Given the description of an element on the screen output the (x, y) to click on. 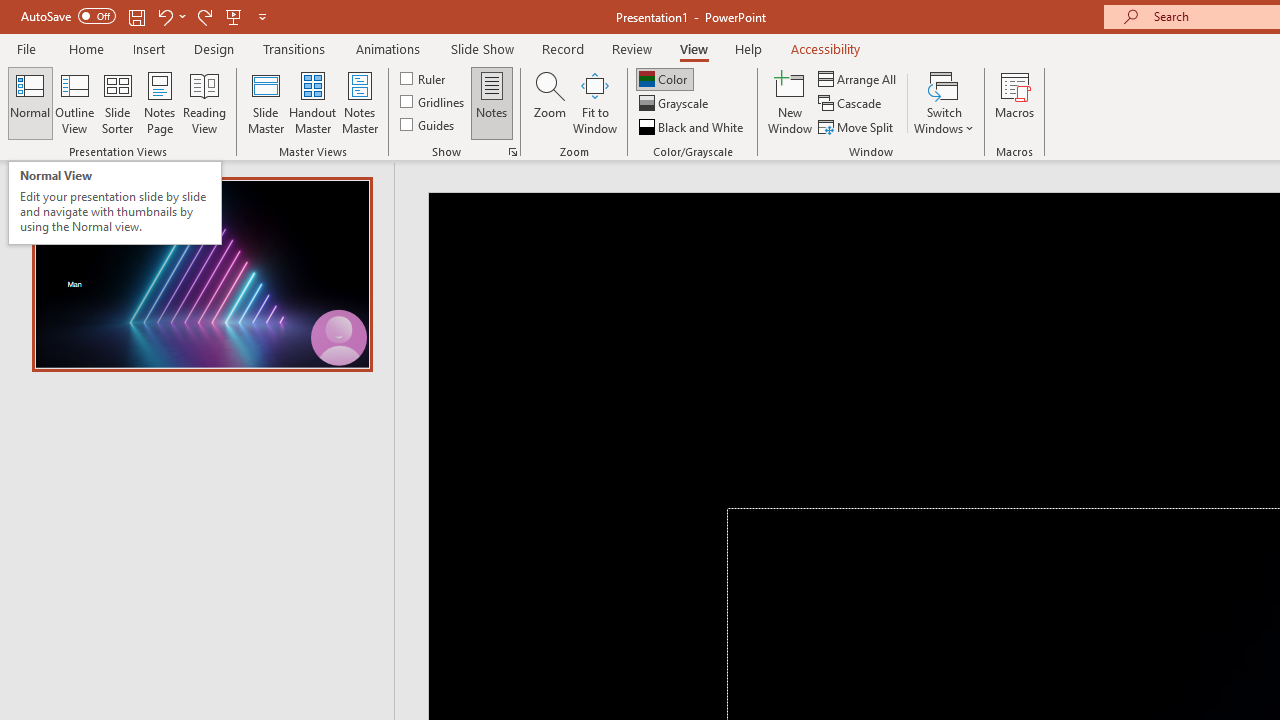
Guides (428, 124)
Notes (492, 102)
New Window (790, 102)
Fit to Window (594, 102)
Zoom... (549, 102)
Move Split (857, 126)
Macros (1014, 102)
Switch Windows (943, 102)
